Given the description of an element on the screen output the (x, y) to click on. 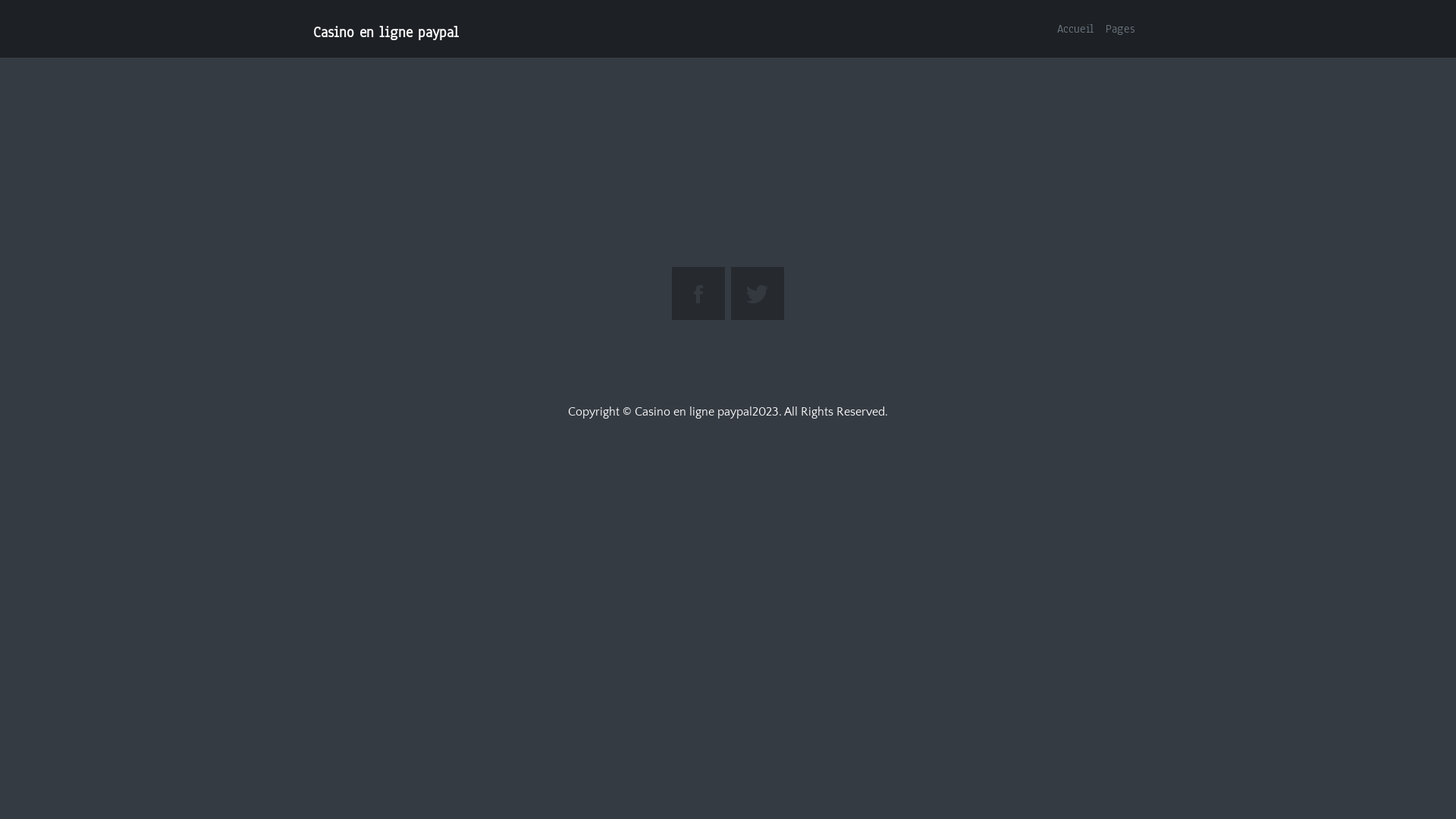
Casino en ligne paypal Element type: text (382, 32)
Pages Element type: text (1120, 28)
Accueil Element type: text (1075, 28)
